Given the description of an element on the screen output the (x, y) to click on. 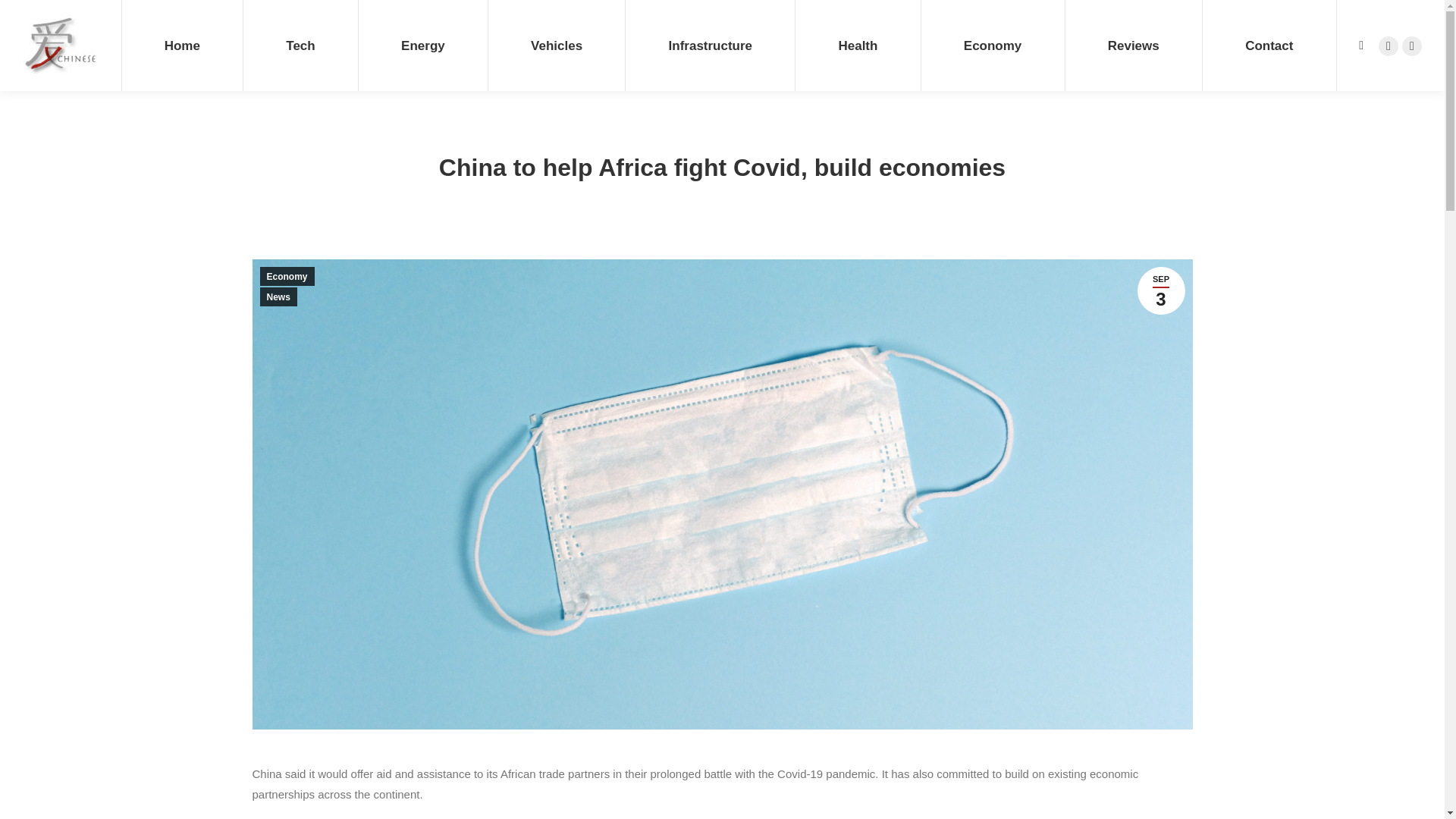
Home (181, 45)
Infrastructure (710, 45)
Reviews (1133, 45)
Go! (1161, 290)
Twitter page opens in new window (24, 17)
Tech (1412, 46)
Facebook page opens in new window (300, 45)
Contact (1387, 46)
9:53 am (1269, 45)
Energy (1161, 290)
Facebook page opens in new window (422, 45)
pexels-anna-shvets-3786126 (1387, 46)
Twitter page opens in new window (857, 45)
